Given the description of an element on the screen output the (x, y) to click on. 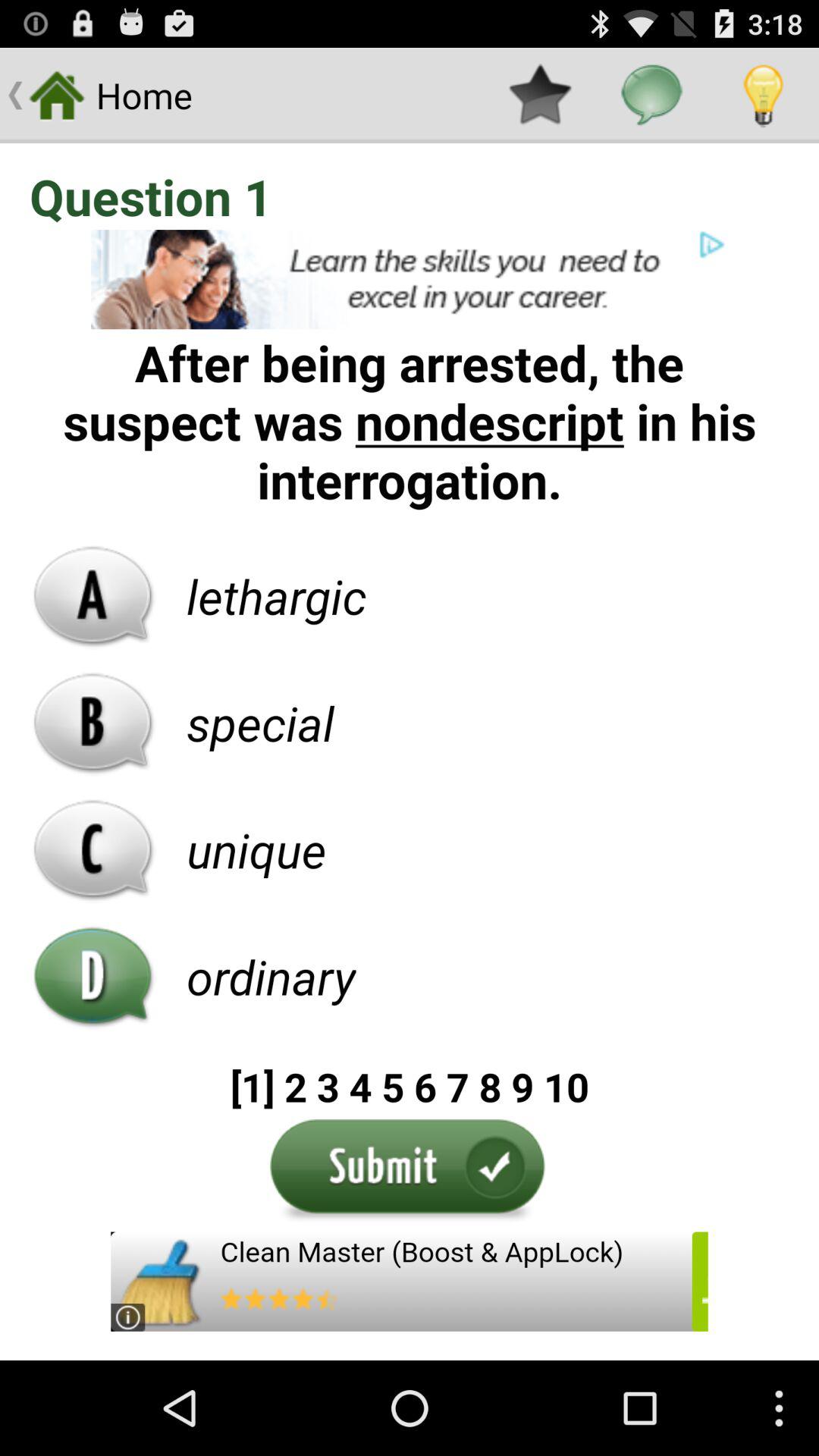
link to advertisement (409, 279)
